Given the description of an element on the screen output the (x, y) to click on. 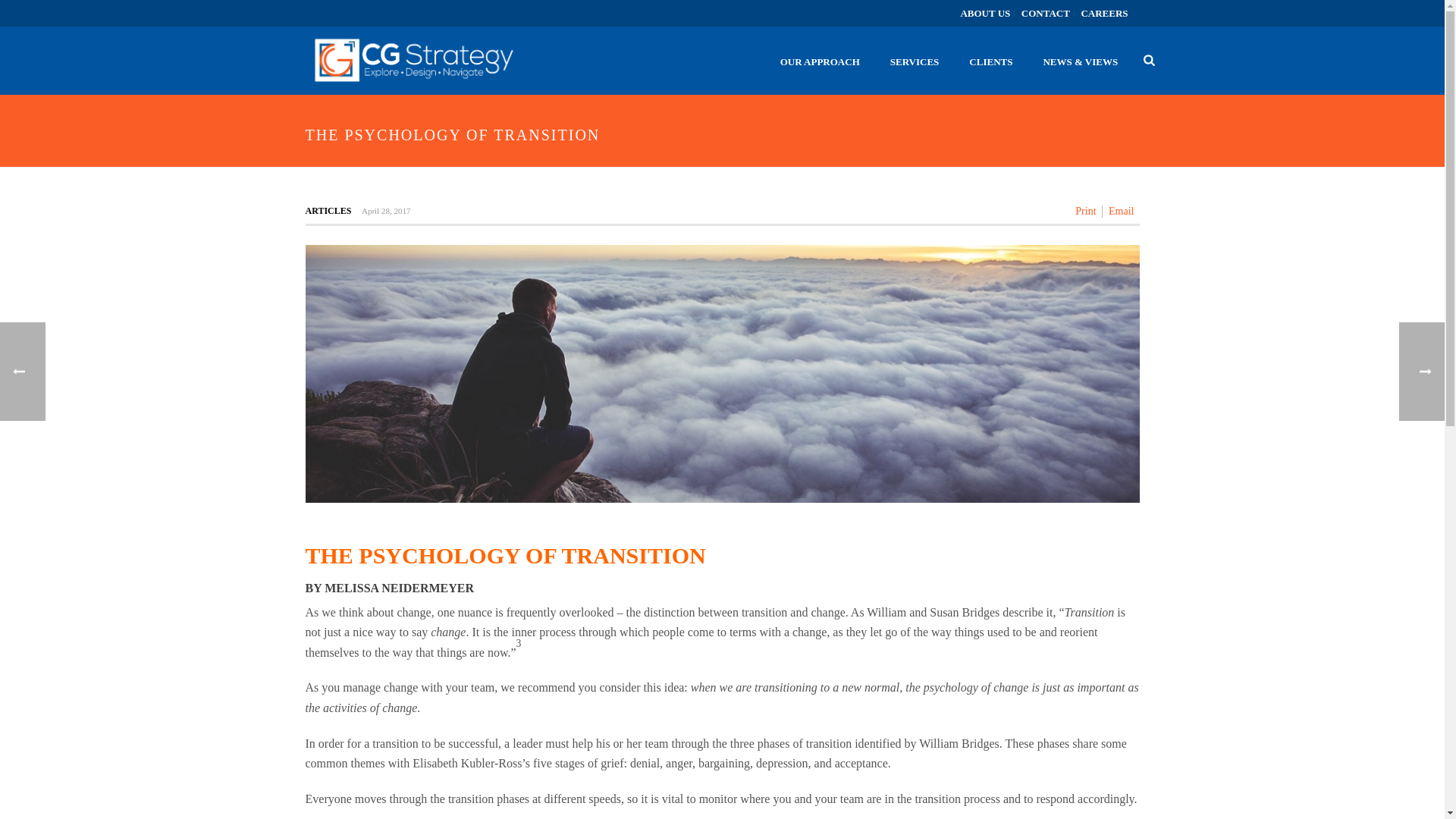
SERVICES (915, 60)
CONTACT (1045, 13)
CLIENTS (990, 60)
OUR APPROACH (820, 60)
OUR APPROACH (820, 60)
CAREERS (1104, 13)
Print (1085, 211)
CLIENTS (990, 60)
April 28, 2017 (385, 210)
ARTICLES (327, 210)
SERVICES (915, 60)
ABOUT US (985, 13)
Email (1121, 211)
